Given the description of an element on the screen output the (x, y) to click on. 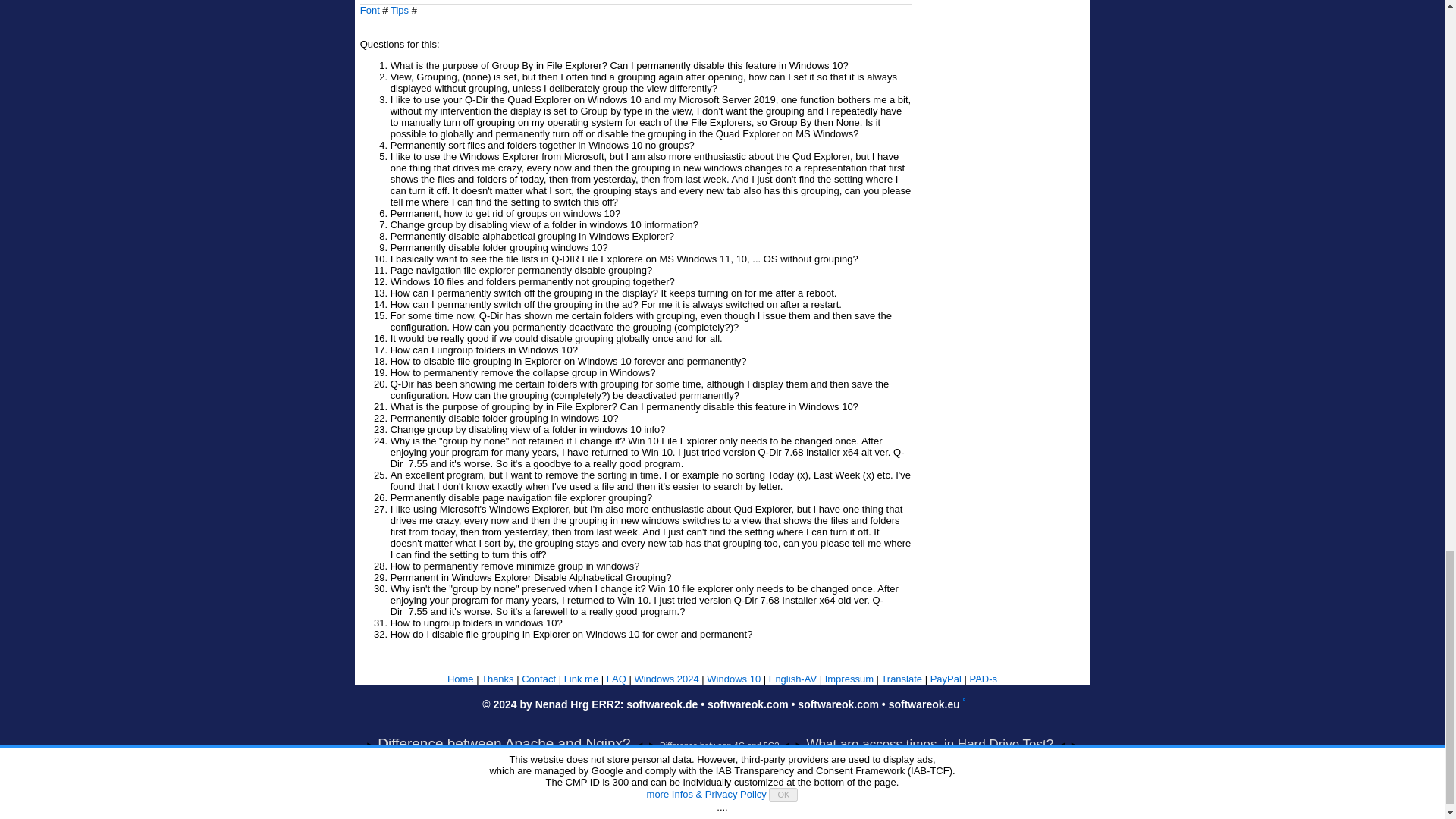
Tips for Windows 11 (665, 678)
Font  (369, 9)
Tips  (399, 9)
Tips for Windows 10 (733, 678)
Font (369, 9)
Tips (399, 9)
